Given the description of an element on the screen output the (x, y) to click on. 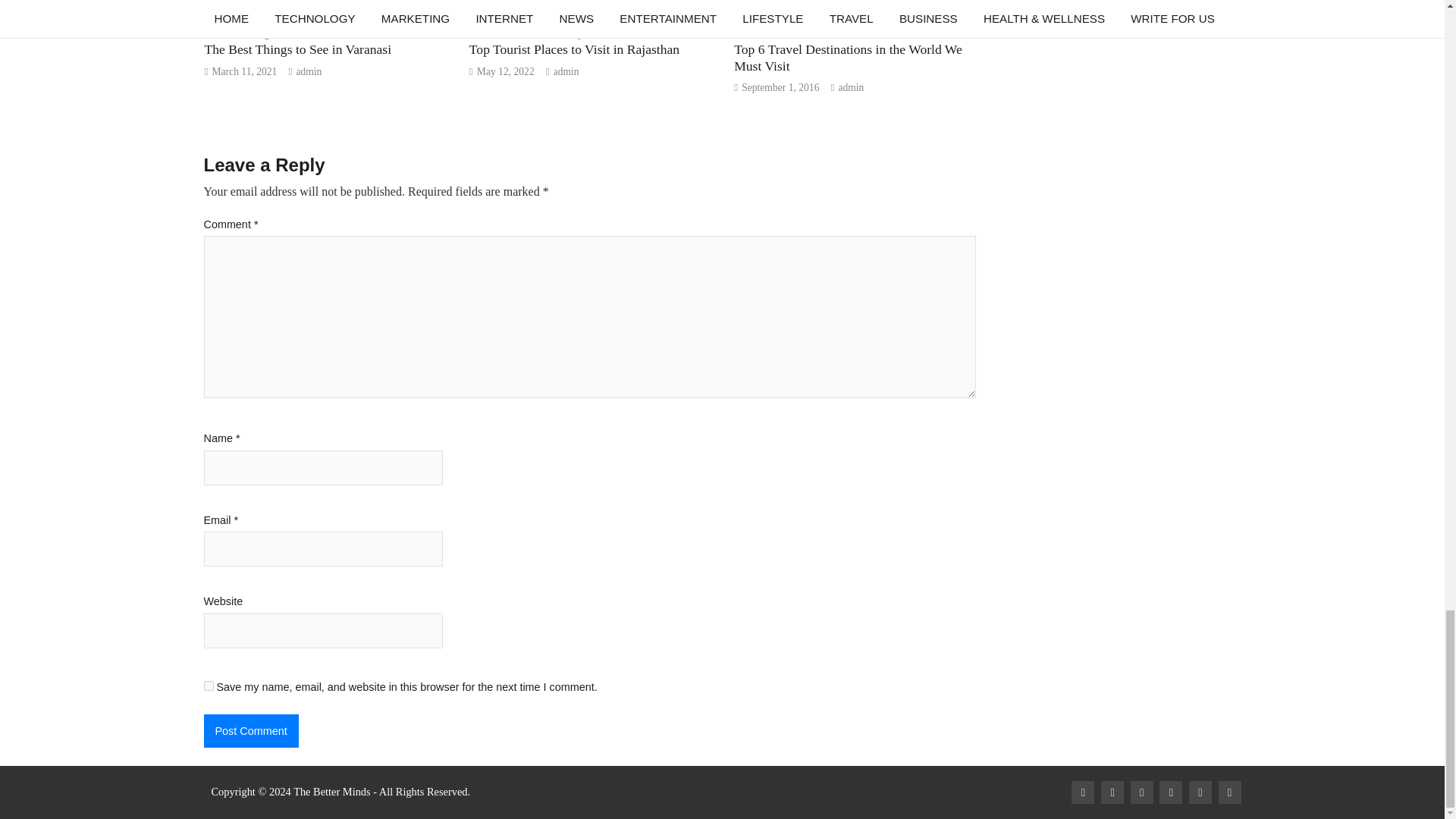
yes (207, 685)
Post Comment (250, 730)
